Given the description of an element on the screen output the (x, y) to click on. 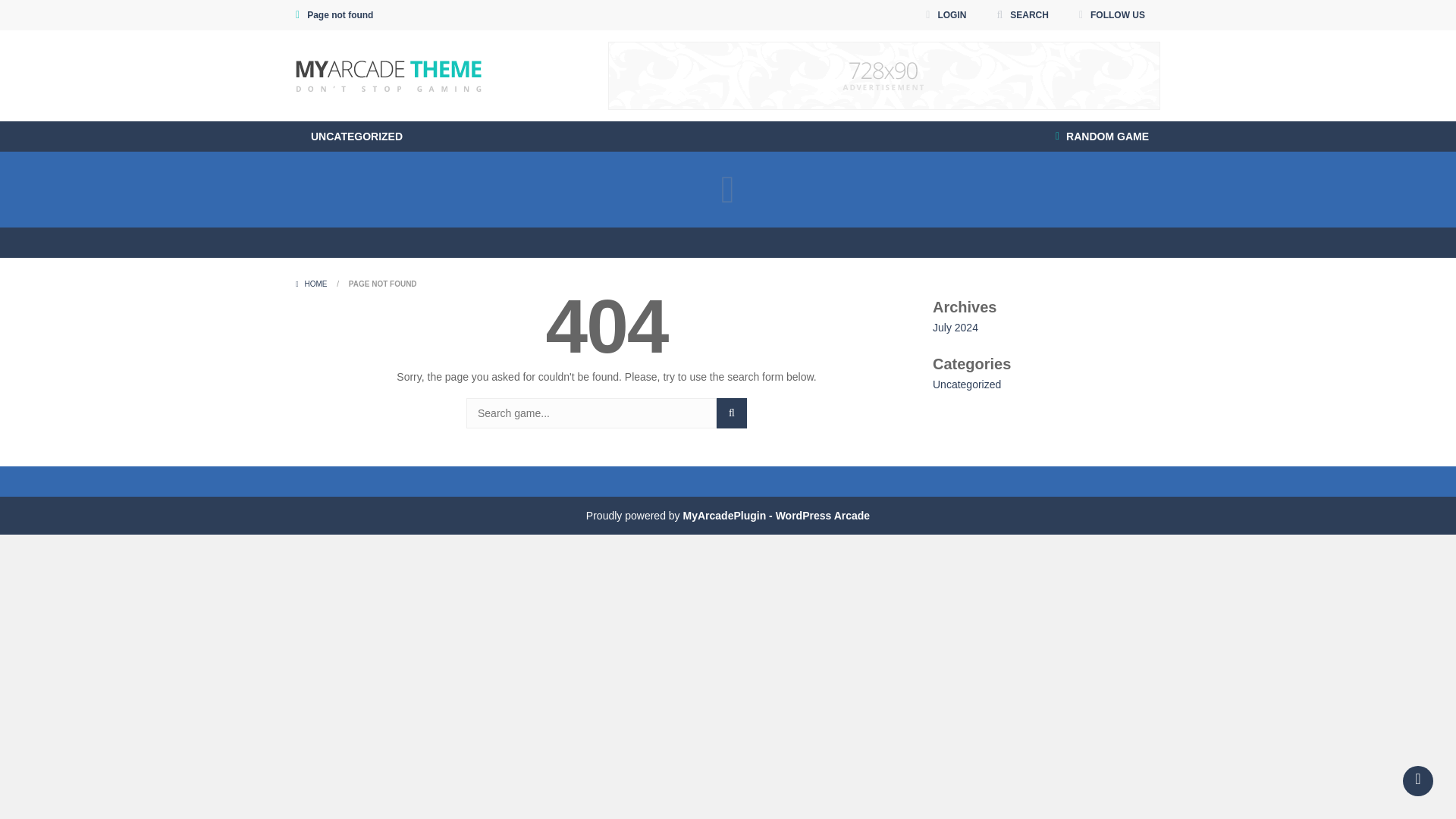
SEARCH (1022, 15)
WordPress Arcade (775, 515)
Uncategorized (967, 384)
Home (312, 284)
FOLLOW US (1111, 15)
MyArcadePlugin - WordPress Arcade (775, 515)
SEARCH (731, 413)
RANDOM GAME (1101, 136)
Mgames (388, 75)
July 2024 (955, 327)
